Given the description of an element on the screen output the (x, y) to click on. 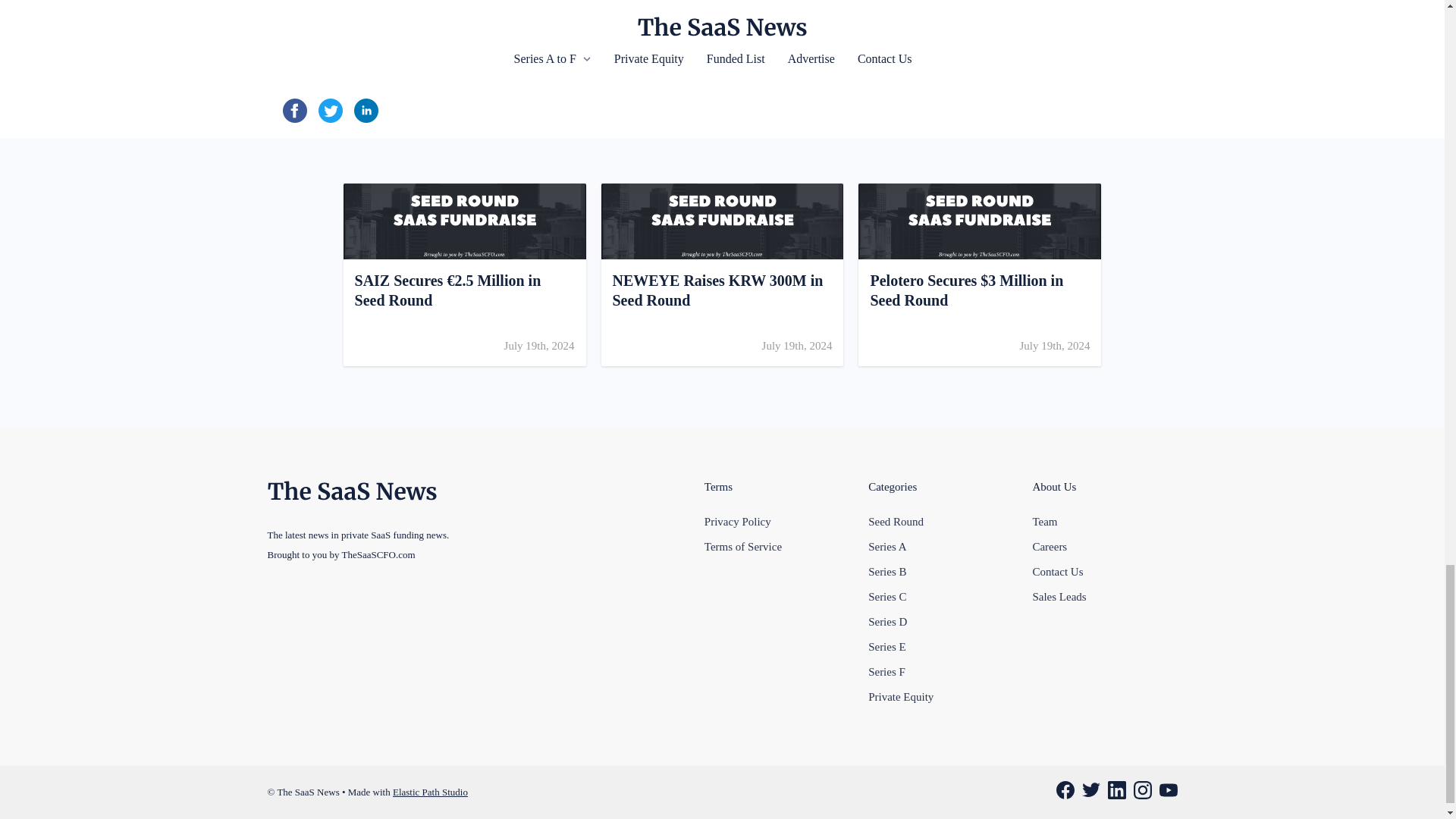
Privacy Policy (737, 521)
Series D (721, 274)
Careers (887, 621)
Private Equity (1049, 545)
Terms of Service (900, 695)
Series F (742, 545)
Team (886, 671)
Series A (1044, 521)
Series B (886, 545)
Series C (886, 571)
Series E (886, 595)
Seed Round (886, 645)
